Given the description of an element on the screen output the (x, y) to click on. 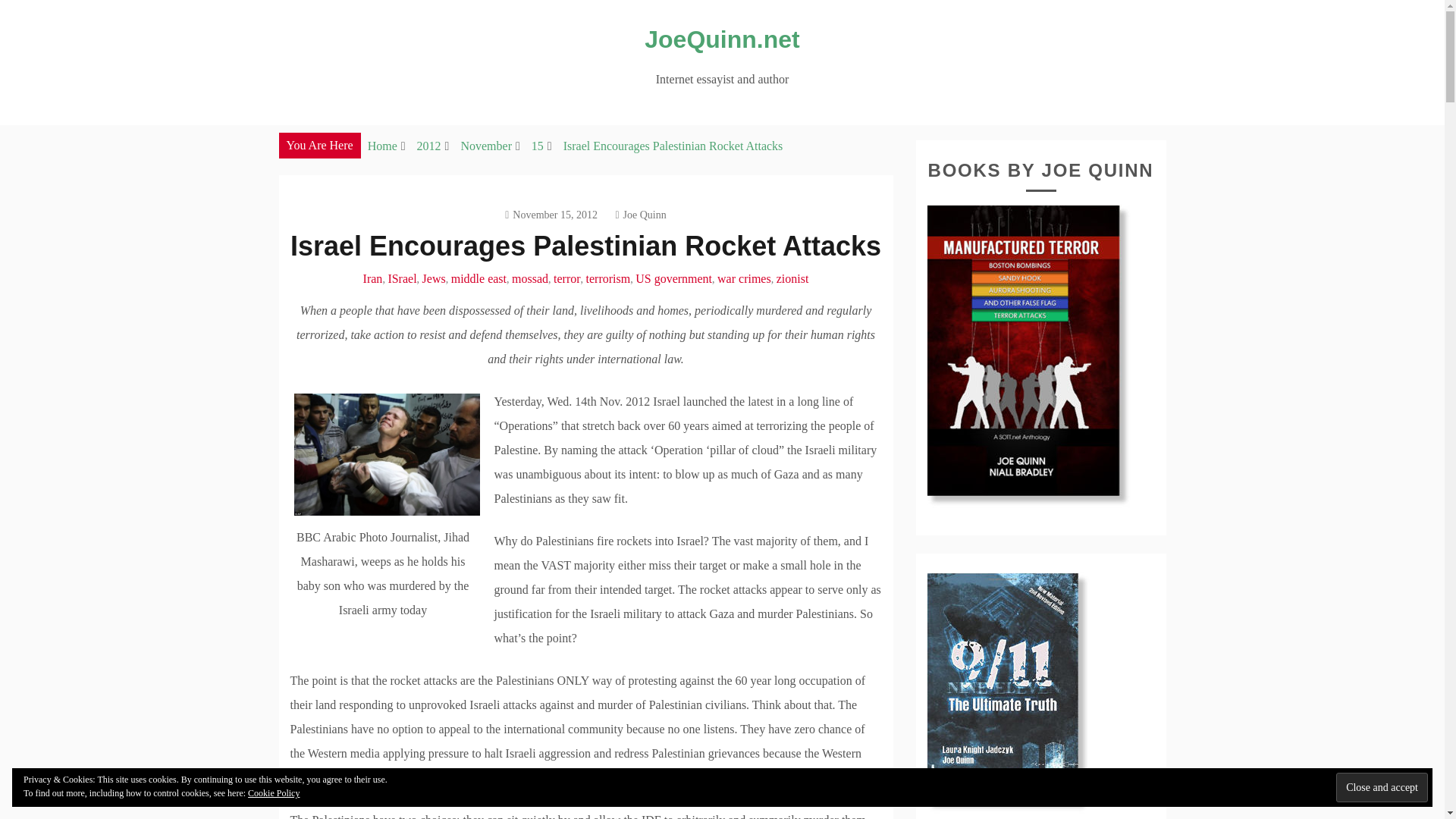
Iran (372, 278)
JoeQuinn.net (722, 39)
2012 (428, 145)
Israel Encourages Palestinian Rocket Attacks (673, 145)
Joe Quinn (639, 214)
mossad (530, 278)
war crimes (744, 278)
15 (537, 145)
ISrael (401, 278)
zionist (792, 278)
